Given the description of an element on the screen output the (x, y) to click on. 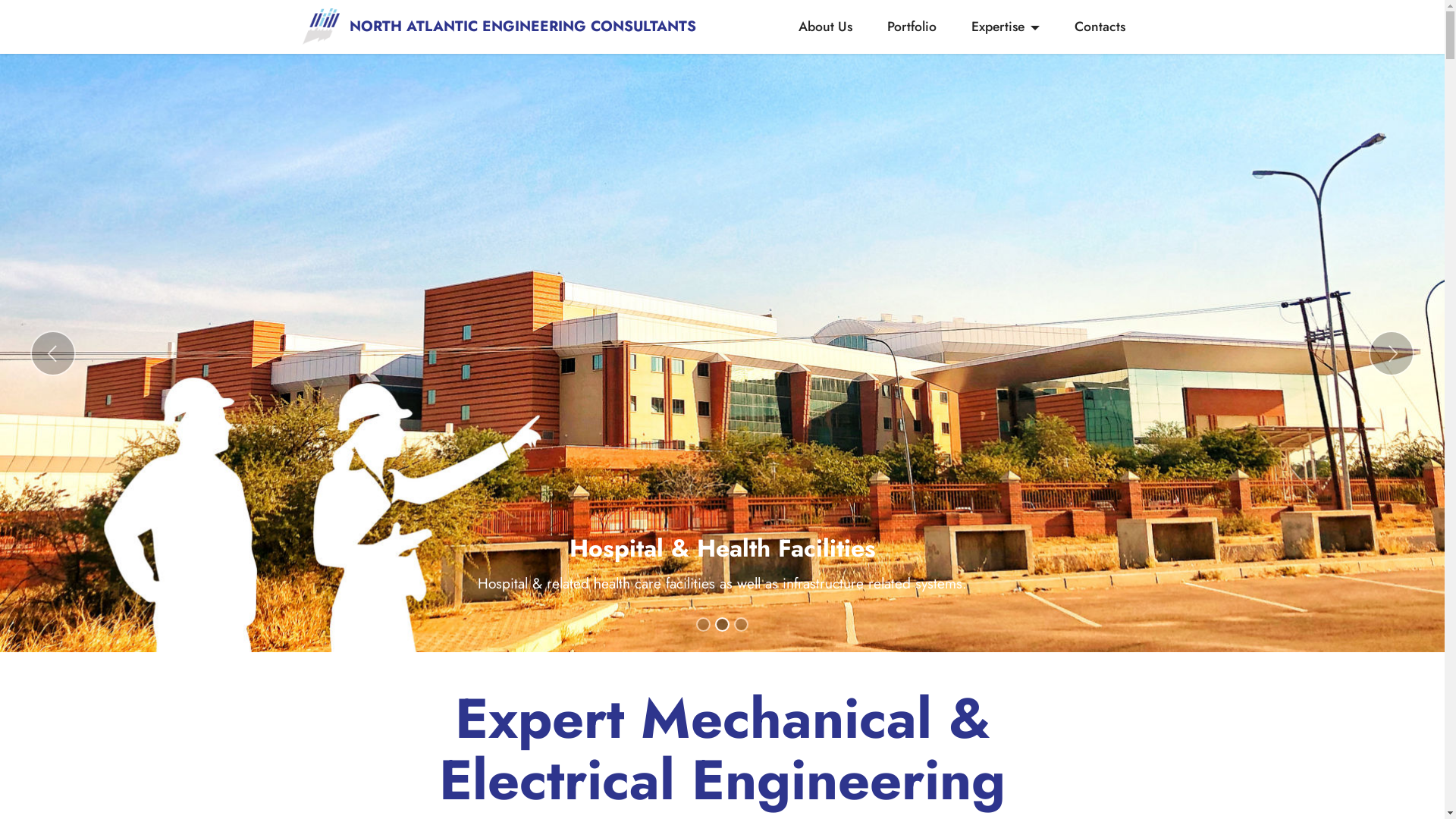
Expertise Element type: text (1005, 26)
NORTH ATLANTIC ENGINEERING CONSULTANTS Element type: text (522, 25)
Contacts Element type: text (1099, 26)
Next Element type: text (1391, 353)
Previous Element type: text (52, 353)
Portfolio Element type: text (912, 26)
About Us Element type: text (825, 26)
